Given the description of an element on the screen output the (x, y) to click on. 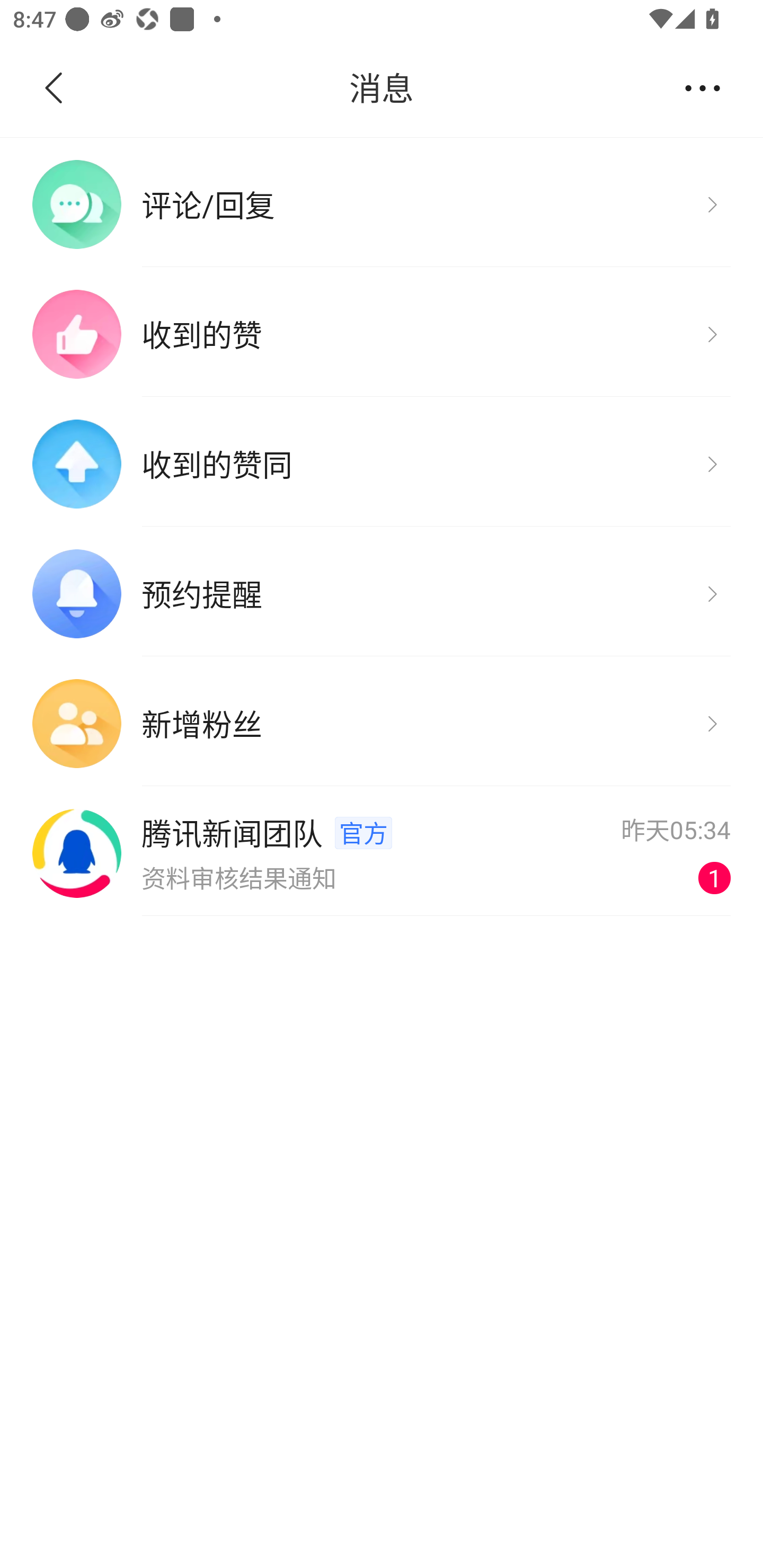
返回，可点击 (91, 87)
设置，可点击 (701, 87)
